Given the description of an element on the screen output the (x, y) to click on. 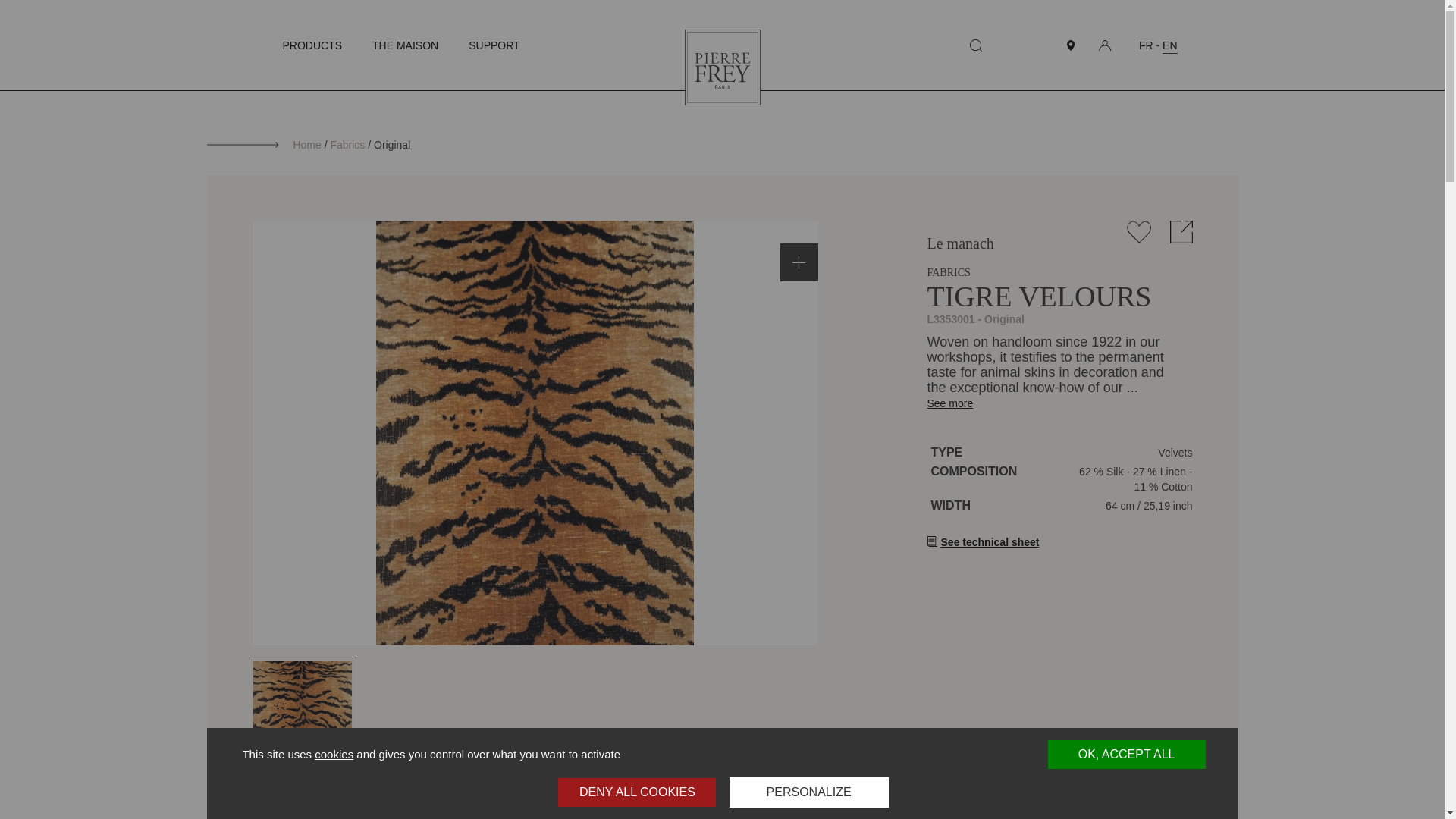
PRODUCTS (312, 45)
Search (975, 44)
THE MAISON (405, 45)
My account (1104, 44)
SUPPORT (494, 45)
FIND A SHOWROOM (1070, 44)
See technical sheet (982, 541)
